Given the description of an element on the screen output the (x, y) to click on. 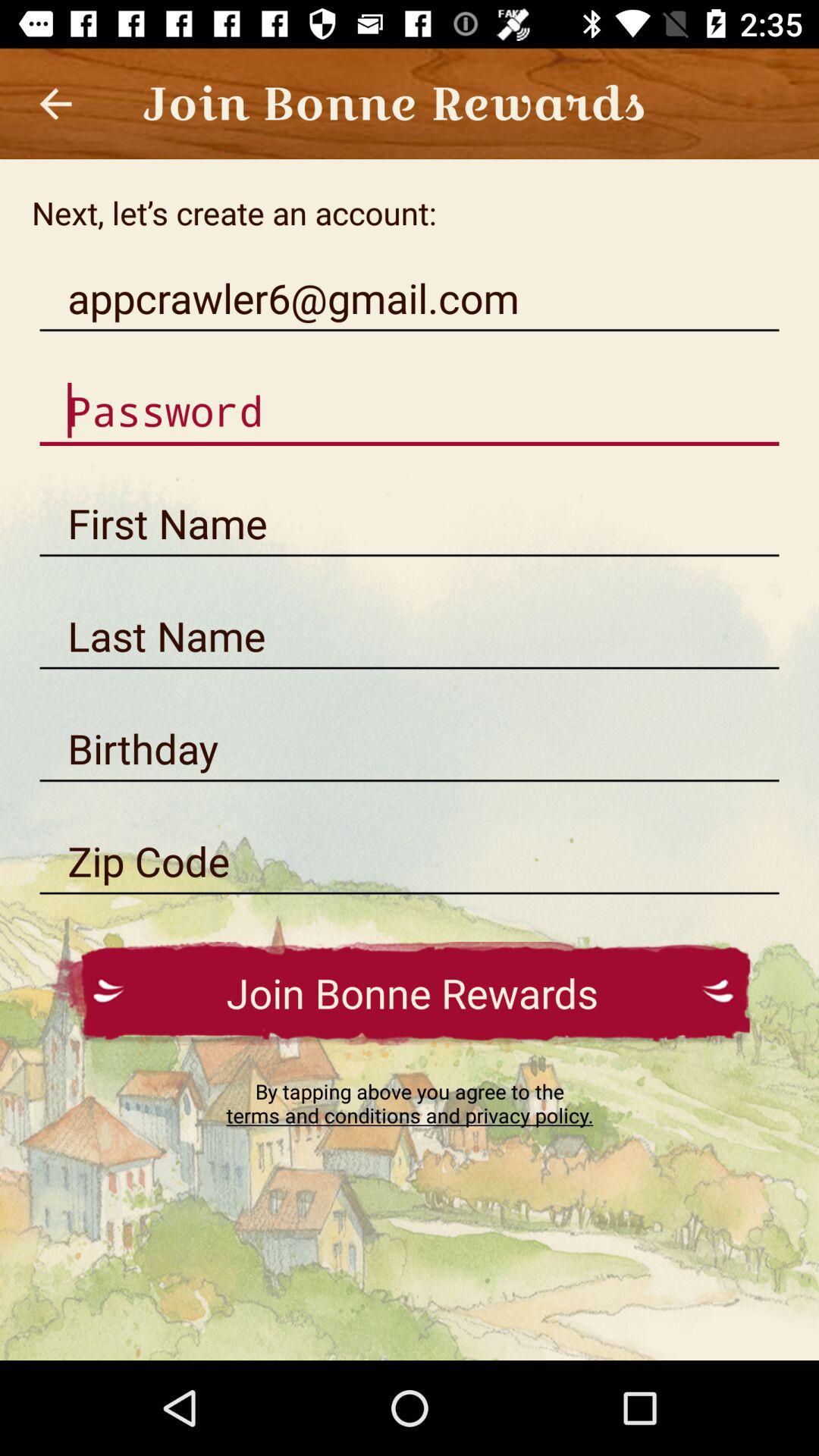
password field on sign up form (409, 410)
